Given the description of an element on the screen output the (x, y) to click on. 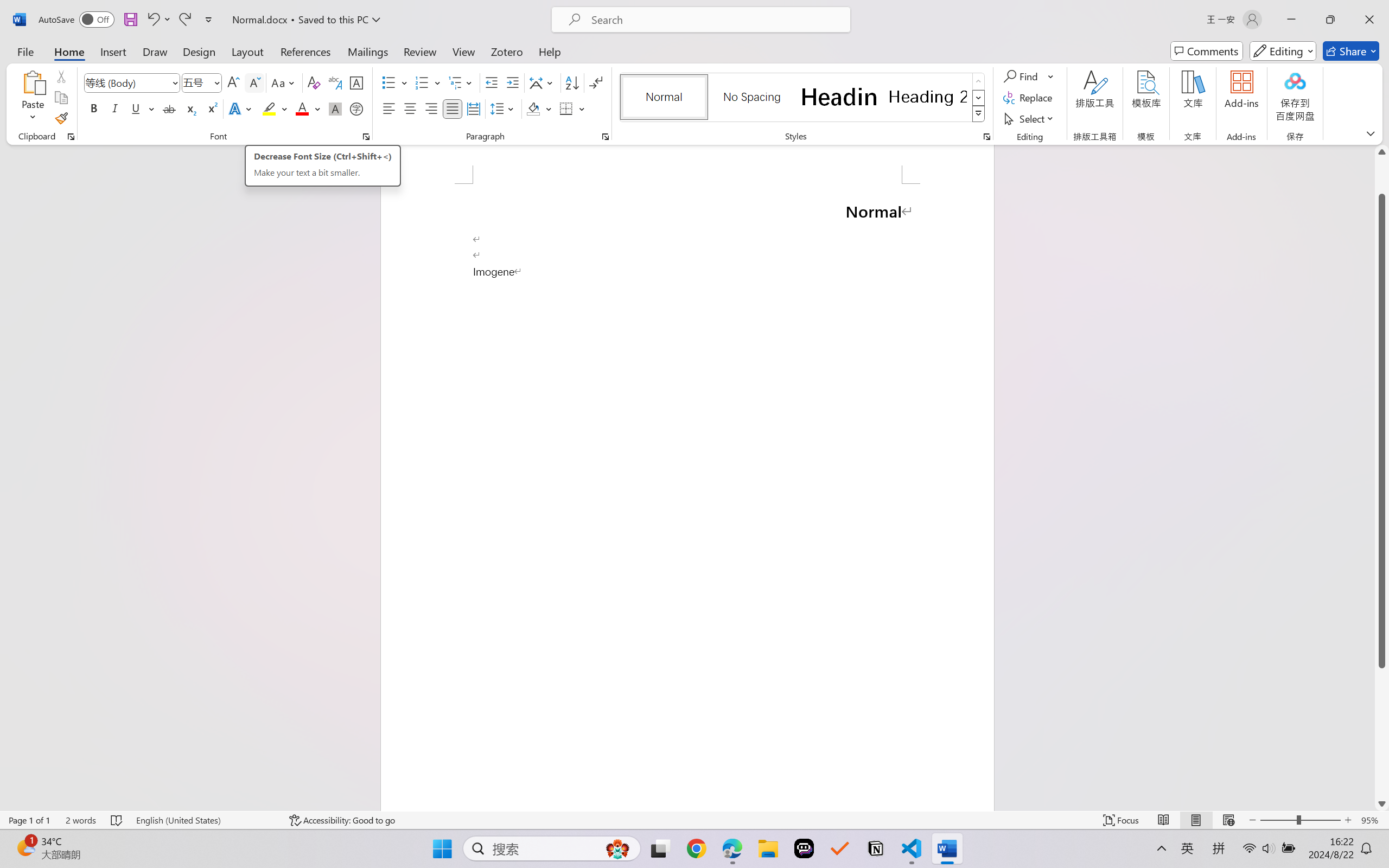
Activate (459, 47)
Spell Check  (50, 837)
New comment (1240, 92)
